Given the description of an element on the screen output the (x, y) to click on. 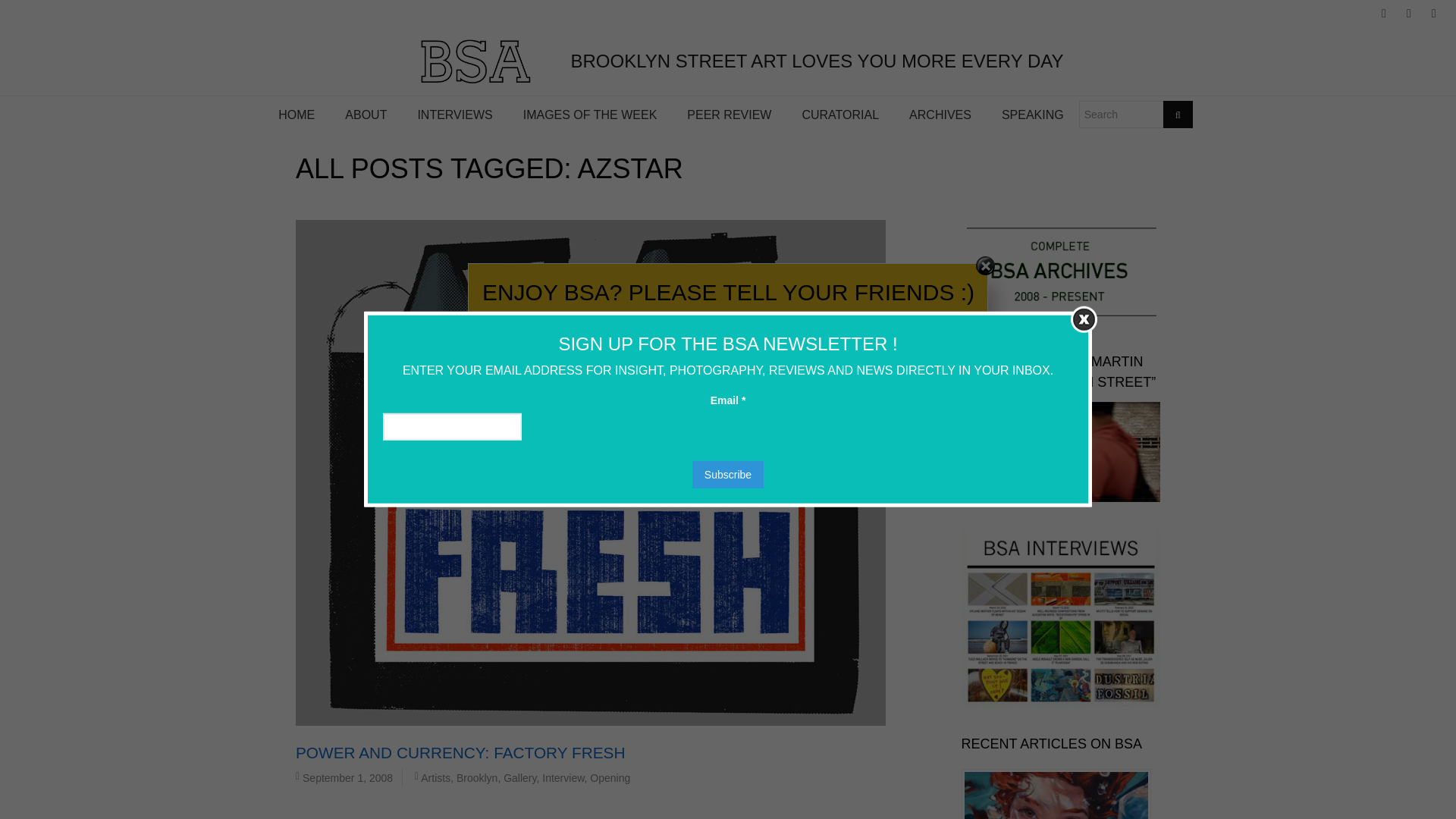
Search (1177, 113)
BROOKLYN STREET ART LOVES YOU MORE EVERY DAY (726, 61)
IMAGES OF THE WEEK (590, 114)
POWER AND CURRENCY: FACTORY FRESH (460, 752)
Interview (562, 777)
PEER REVIEW (728, 114)
Permalink to Power and Currency: Factory Fresh (460, 752)
CURATORIAL (839, 114)
ABOUT (365, 114)
HOME (296, 114)
Gallery (519, 777)
Subscribe (727, 474)
Opening (609, 777)
SPEAKING (1032, 114)
INTERVIEWS (453, 114)
